Given the description of an element on the screen output the (x, y) to click on. 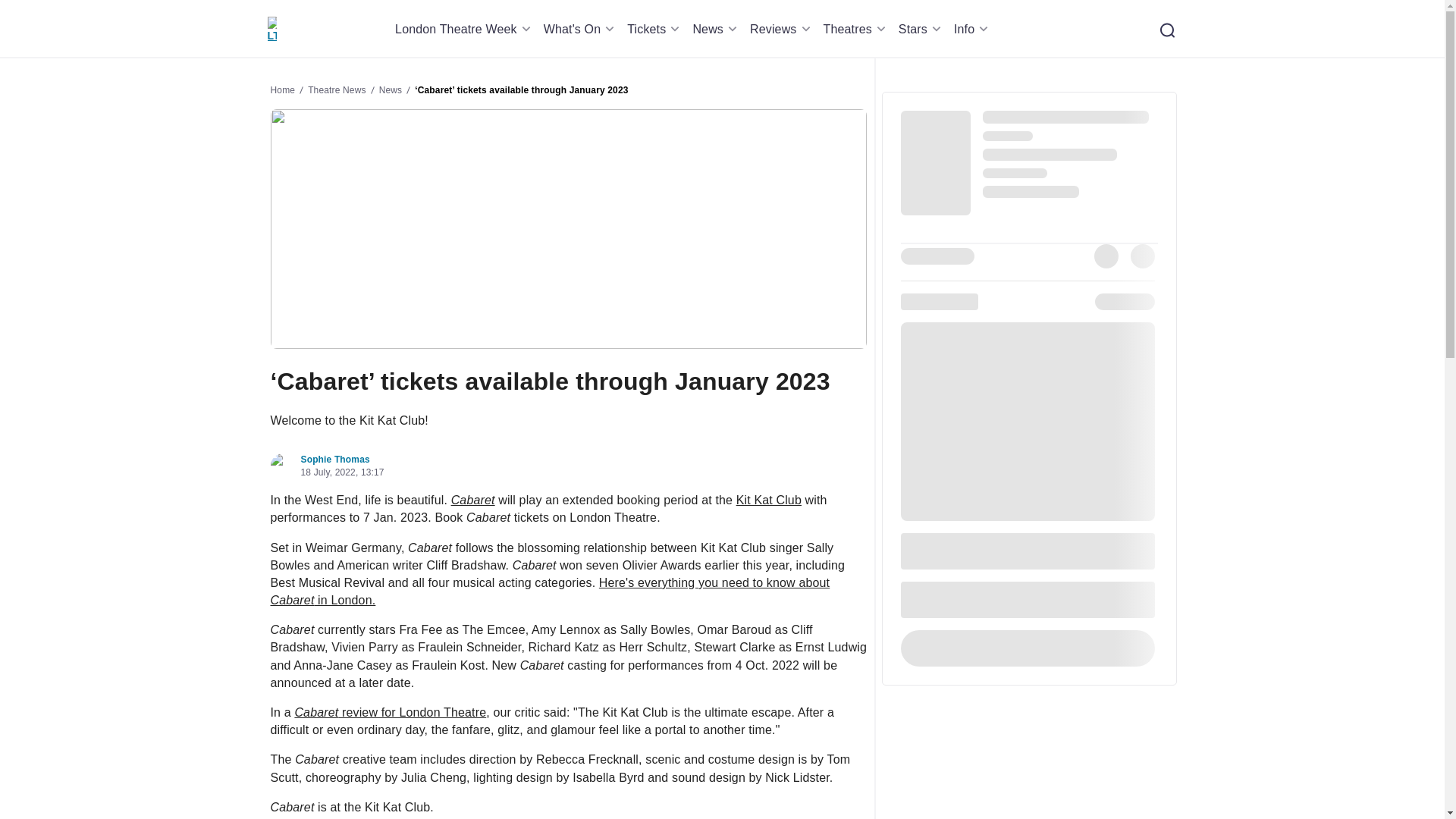
Tickets (655, 28)
London Theatre Week (464, 28)
What's On (581, 28)
